Given the description of an element on the screen output the (x, y) to click on. 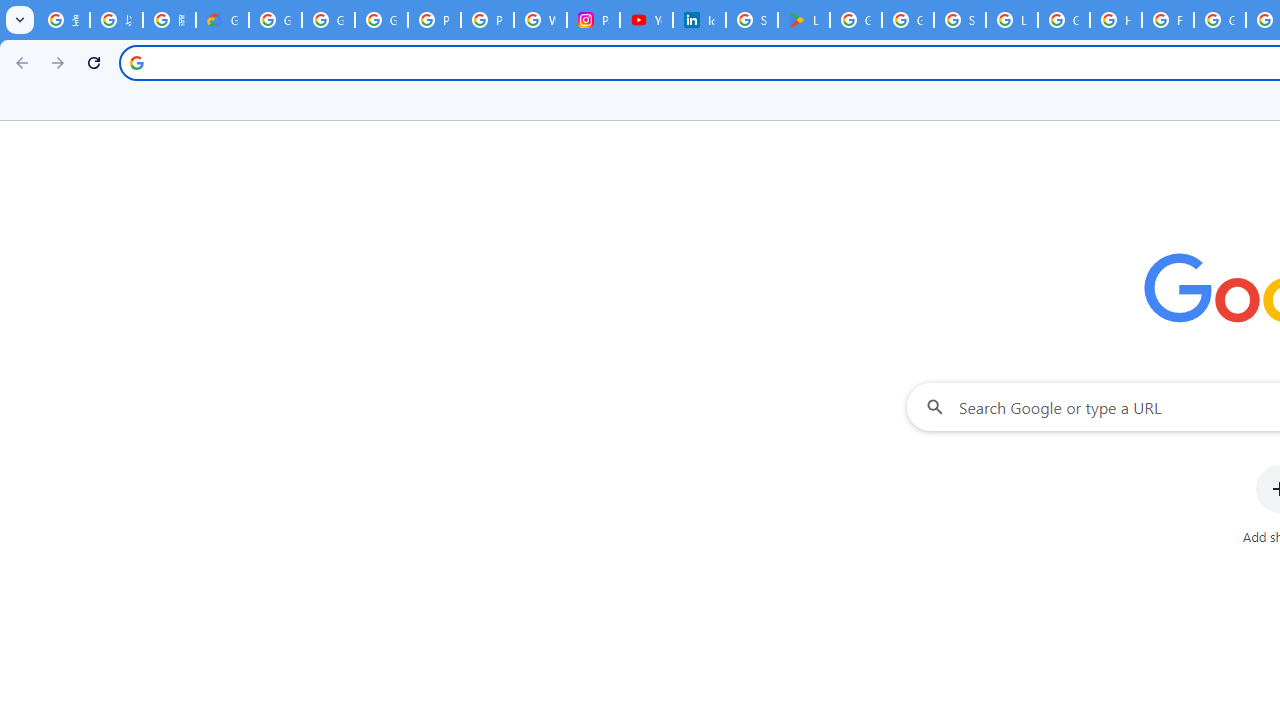
YouTube Culture & Trends - On The Rise: Handcam Videos (646, 20)
Sign in - Google Accounts (751, 20)
Sign in - Google Accounts (959, 20)
